Given the description of an element on the screen output the (x, y) to click on. 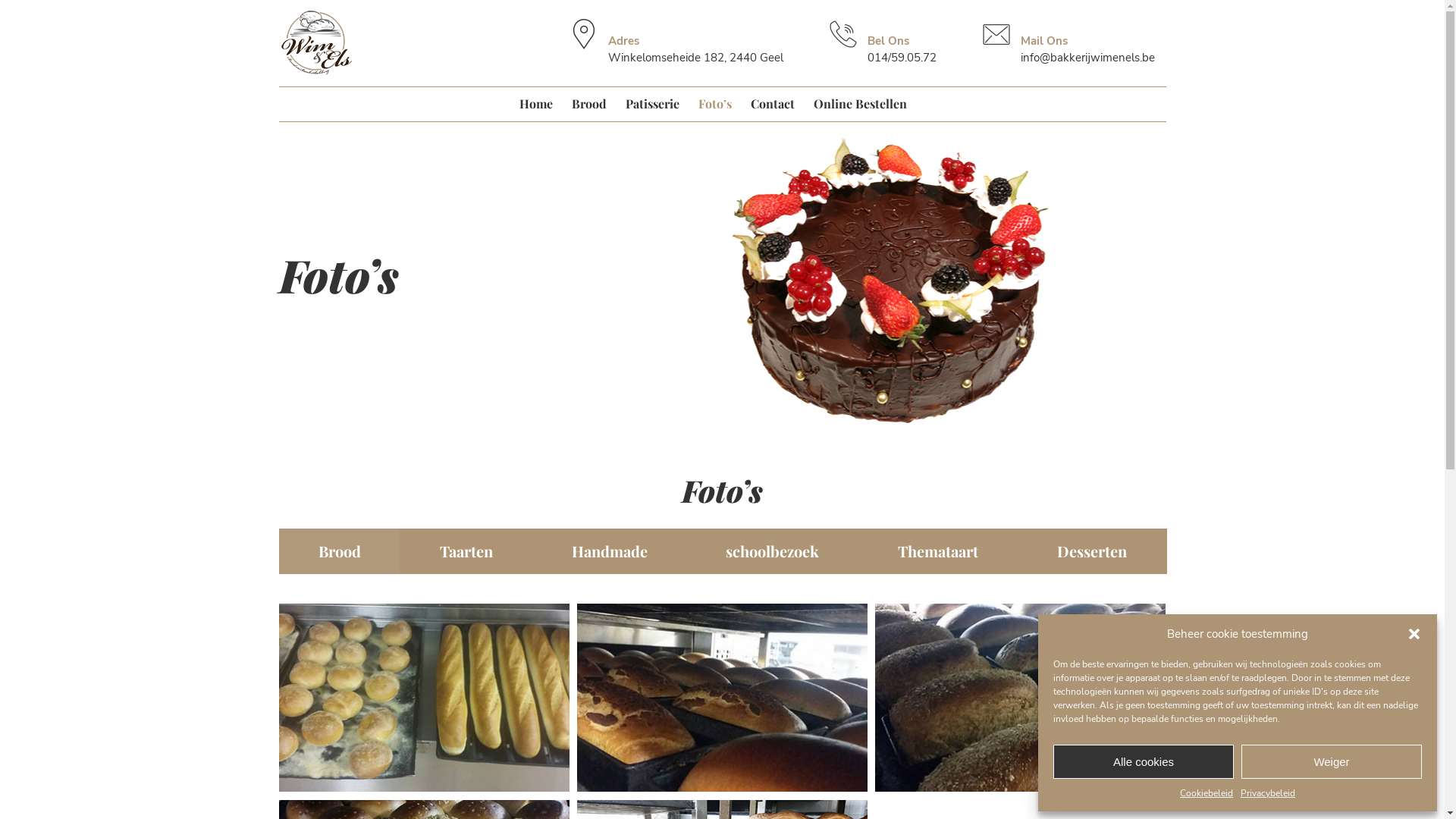
Privacybeleid Element type: text (1267, 793)
br2 Element type: hover (424, 697)
Brood Element type: text (588, 103)
Themataart Element type: text (938, 550)
Desserten Element type: text (1092, 550)
info@bakkerijwimenels.be Element type: text (1087, 57)
Weiger Element type: text (1331, 761)
Taarten Element type: text (465, 550)
br5 Element type: hover (1020, 697)
Brood Element type: text (340, 550)
schoolbezoek Element type: text (772, 550)
Handmade Element type: text (609, 550)
Online Bestellen Element type: text (859, 103)
br1 Element type: hover (721, 697)
Contact Element type: text (772, 103)
Cookiebeleid Element type: text (1206, 793)
Patisserie Element type: text (651, 103)
Home Element type: text (535, 103)
014/59.05.72 Element type: text (901, 57)
Alle cookies Element type: text (1143, 761)
